Given the description of an element on the screen output the (x, y) to click on. 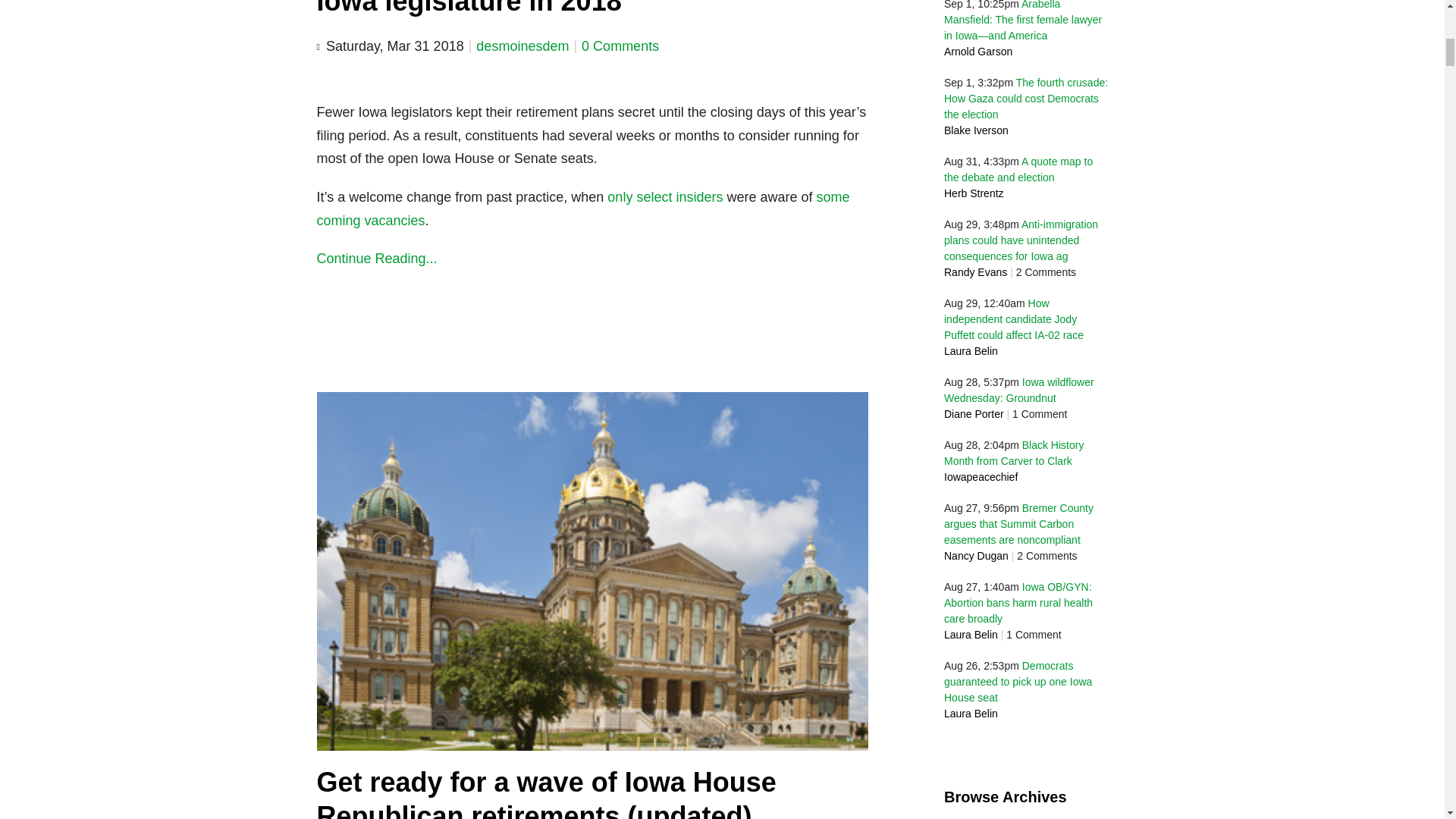
Continue Reading... (593, 259)
0 Comments (619, 46)
some coming vacancies (583, 208)
desmoinesdem (522, 46)
Fewer last-minute retirements from Iowa legislature in 2018 (545, 7)
comments (619, 46)
only select insiders (663, 196)
